Given the description of an element on the screen output the (x, y) to click on. 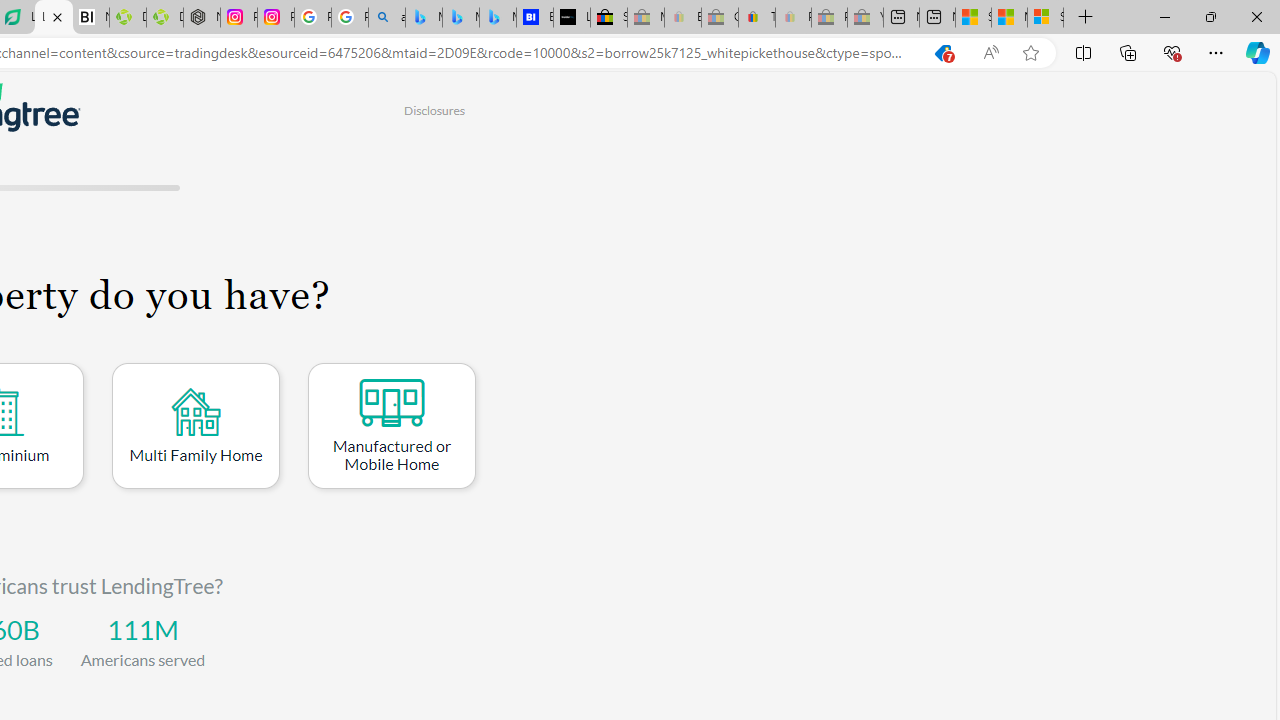
Press Room - eBay Inc. - Sleeping (829, 17)
Selling on eBay | Electronics, Fashion, Home & Garden | eBay (609, 17)
LendingTree - Compare Lenders (53, 17)
